Given the description of an element on the screen output the (x, y) to click on. 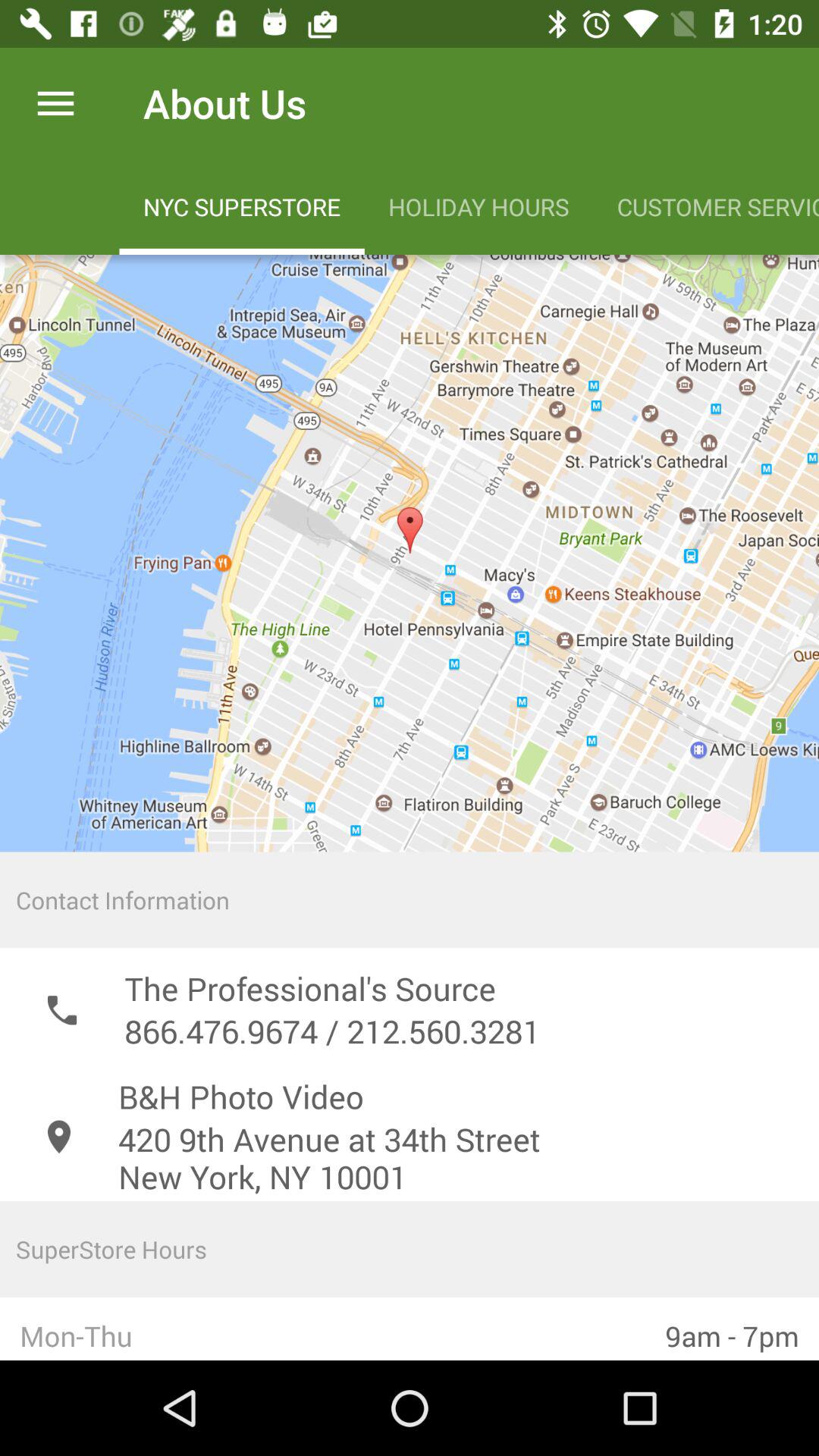
open icon next to 9am - 7pm icon (322, 1328)
